Given the description of an element on the screen output the (x, y) to click on. 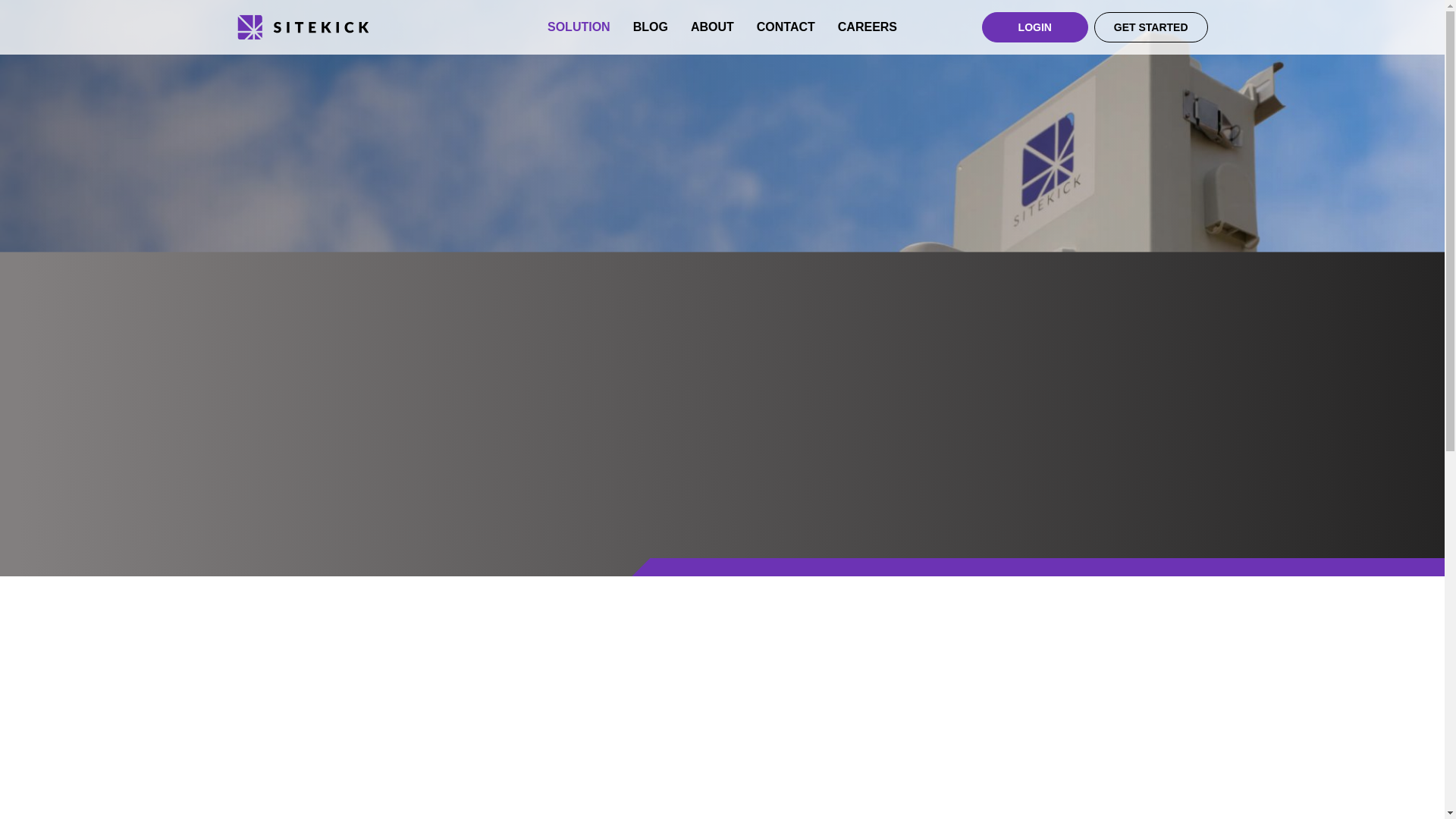
LOGIN (1034, 27)
BLOG (650, 26)
CONTACT (786, 26)
GET STARTED (1151, 27)
ABOUT (711, 26)
SOLUTION (578, 26)
CAREERS (867, 26)
